Given the description of an element on the screen output the (x, y) to click on. 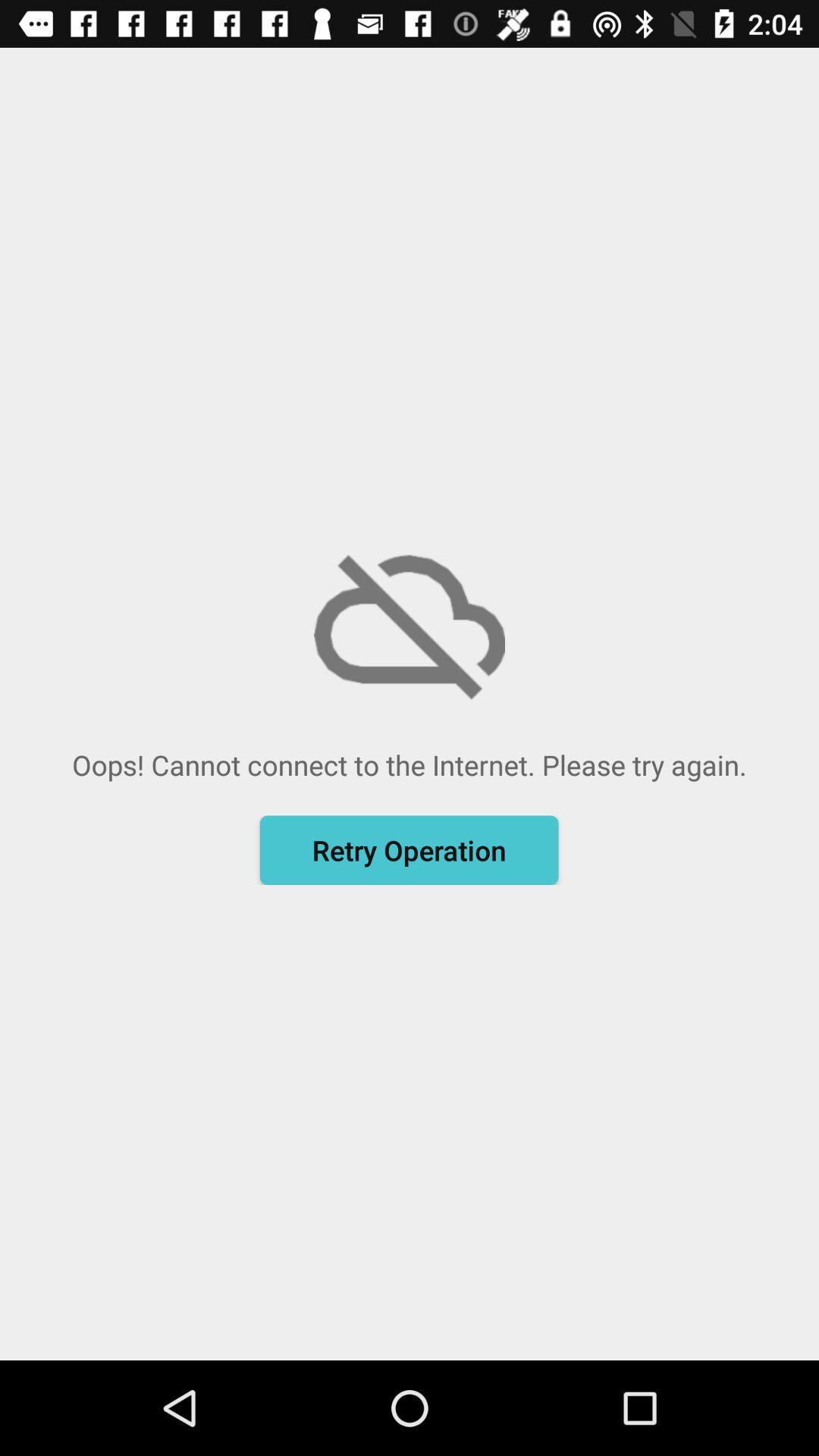
swipe to the retry operation icon (408, 849)
